Given the description of an element on the screen output the (x, y) to click on. 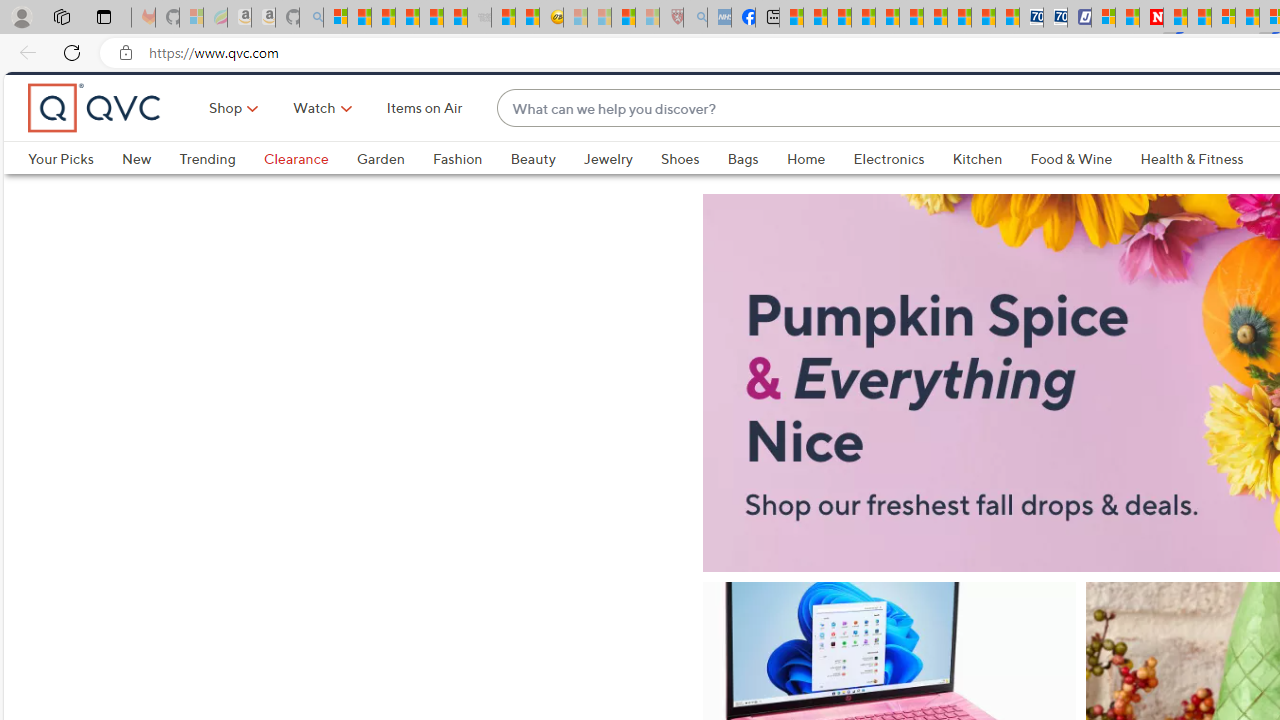
Climate Damage Becomes Too Severe To Reverse (863, 17)
New (150, 192)
Trending (207, 192)
Jewelry (621, 192)
Kitchen (991, 192)
QVC home (95, 141)
Electronics (888, 192)
Combat Siege - Sleeping (479, 17)
Shop (226, 141)
